Given the description of an element on the screen output the (x, y) to click on. 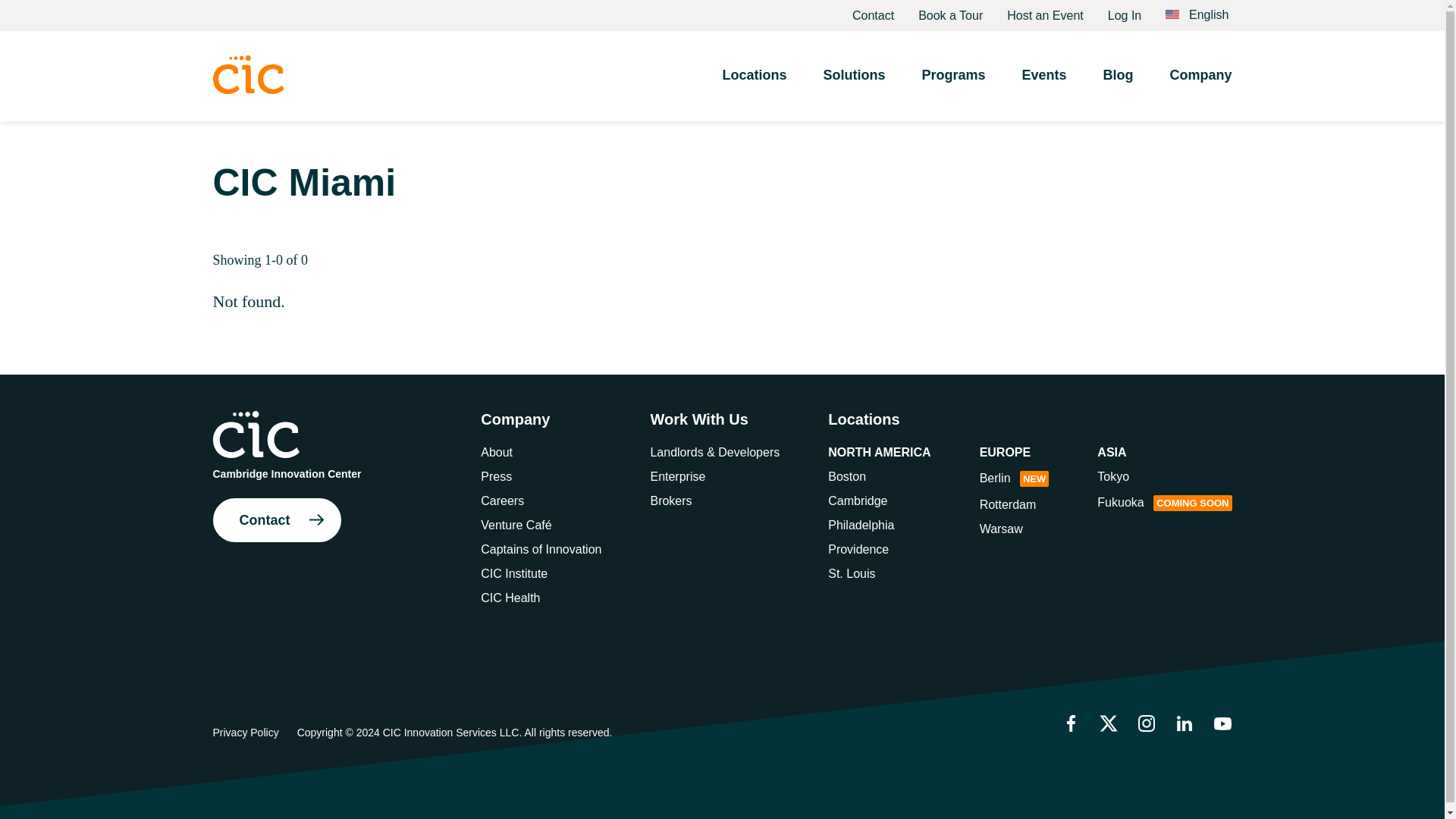
Contact (872, 15)
Blog (1117, 76)
Host an Event (1045, 15)
Locations (754, 76)
English (1196, 14)
Events (1043, 76)
Book a Tour (950, 15)
Programs (953, 76)
Solutions (853, 76)
